Given the description of an element on the screen output the (x, y) to click on. 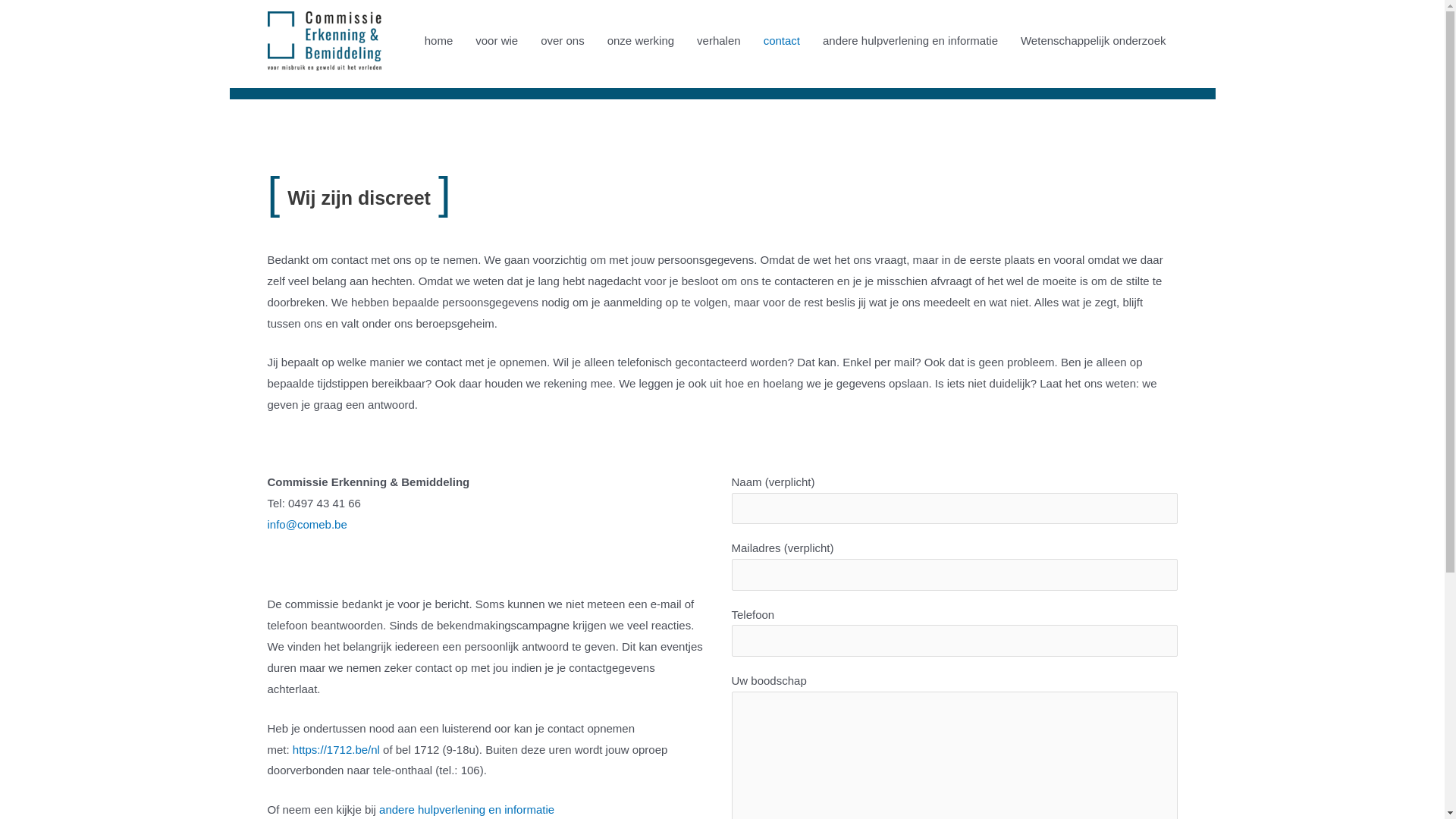
voor wie Element type: text (496, 40)
over ons Element type: text (562, 40)
info@comeb.be Element type: text (306, 523)
andere hulpverlening en informatie Element type: text (910, 40)
onze werking Element type: text (640, 40)
contact Element type: text (781, 40)
verhalen Element type: text (718, 40)
andere hulpverlening en informatie Element type: text (466, 809)
home Element type: text (438, 40)
Wetenschappelijk onderzoek Element type: text (1093, 40)
https://1712.be/nl Element type: text (335, 749)
